Given the description of an element on the screen output the (x, y) to click on. 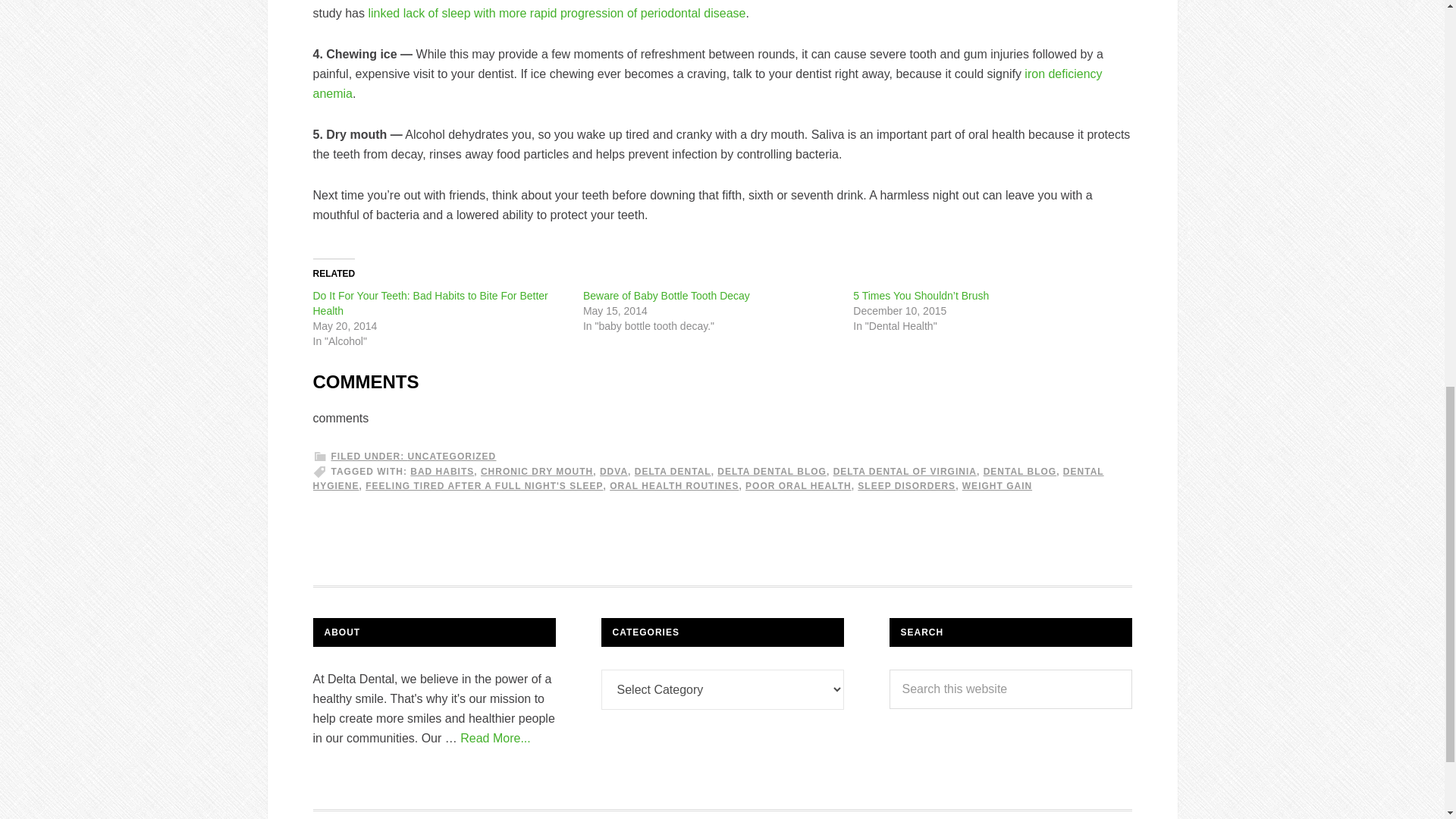
DDVA (613, 471)
DENTAL HYGIENE (708, 479)
Read More... (494, 738)
SLEEP DISORDERS (906, 485)
Do It For Your Teeth: Bad Habits to Bite For Better Health (430, 302)
DENTAL BLOG (1020, 471)
Beware of Baby Bottle Tooth Decay (666, 295)
DELTA DENTAL BLOG (772, 471)
ORAL HEALTH ROUTINES (674, 485)
